Given the description of an element on the screen output the (x, y) to click on. 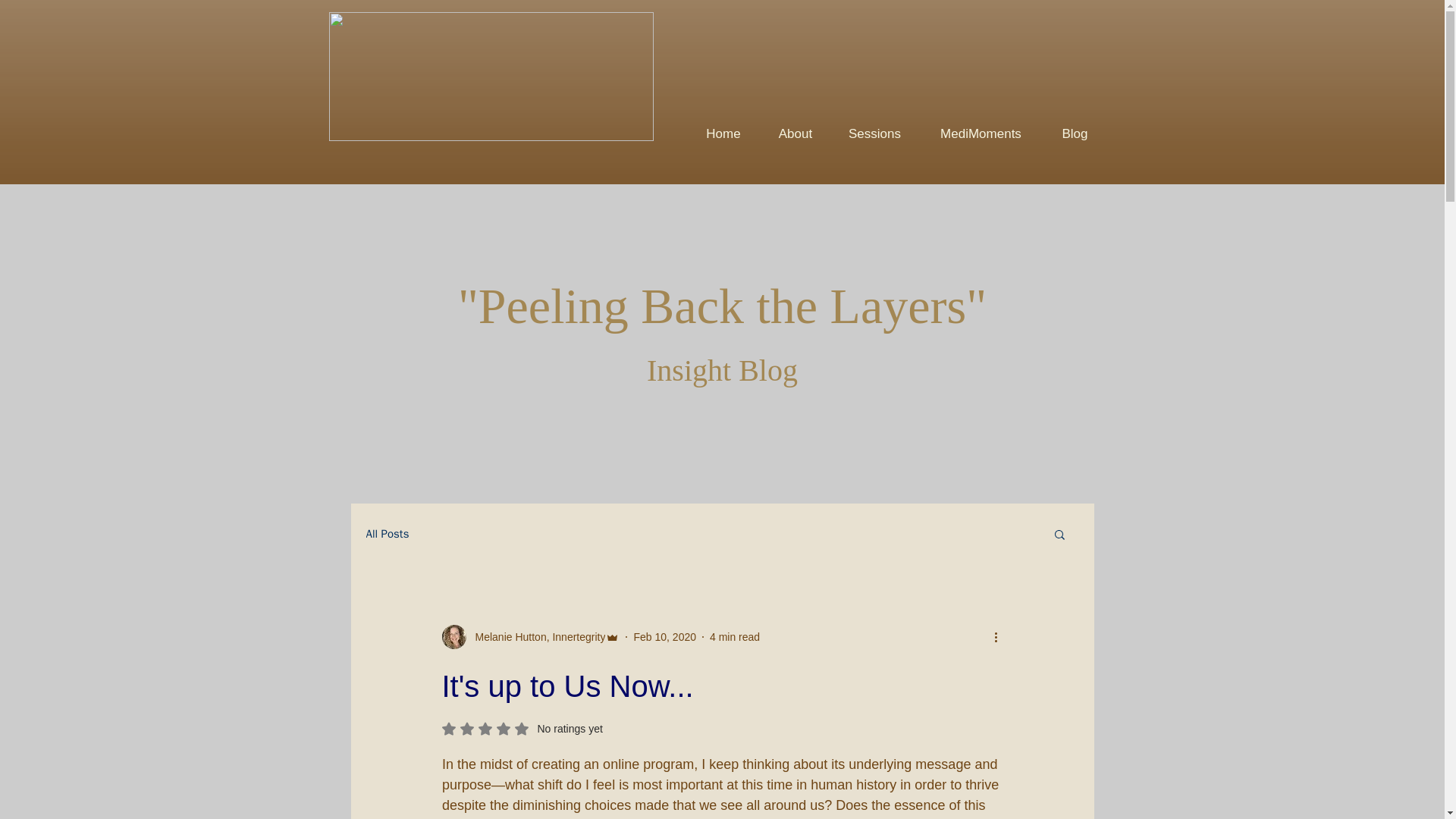
Melanie Hutton, Innertegrity (530, 636)
About (795, 134)
All Posts (387, 533)
Logo Innertegrity SpirPsych 2fonts.png (491, 76)
Feb 10, 2020 (521, 728)
Blog (664, 636)
Melanie Hutton, Innertegrity (1074, 134)
4 min read (535, 637)
Home (735, 636)
